Given the description of an element on the screen output the (x, y) to click on. 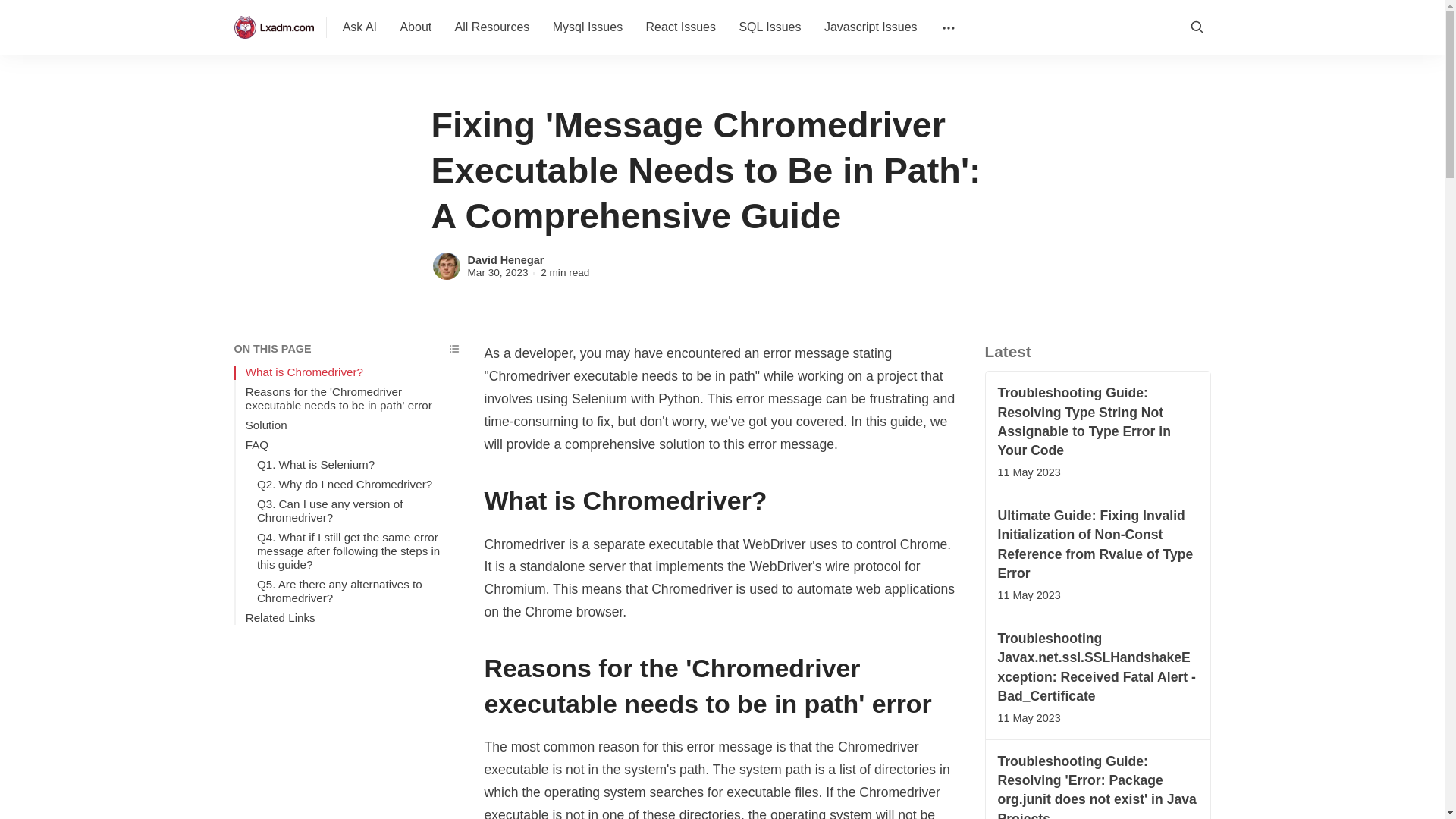
David Henegar (505, 259)
SQL Issues (769, 27)
About (415, 27)
Mysql Issues (587, 27)
Javascript Issues (870, 27)
What is Chromedriver? (353, 372)
ON THIS PAGE (346, 348)
All Resources (491, 27)
David Henegar (445, 265)
React Issues (681, 27)
Ask AI (359, 27)
Search (1195, 26)
